Given the description of an element on the screen output the (x, y) to click on. 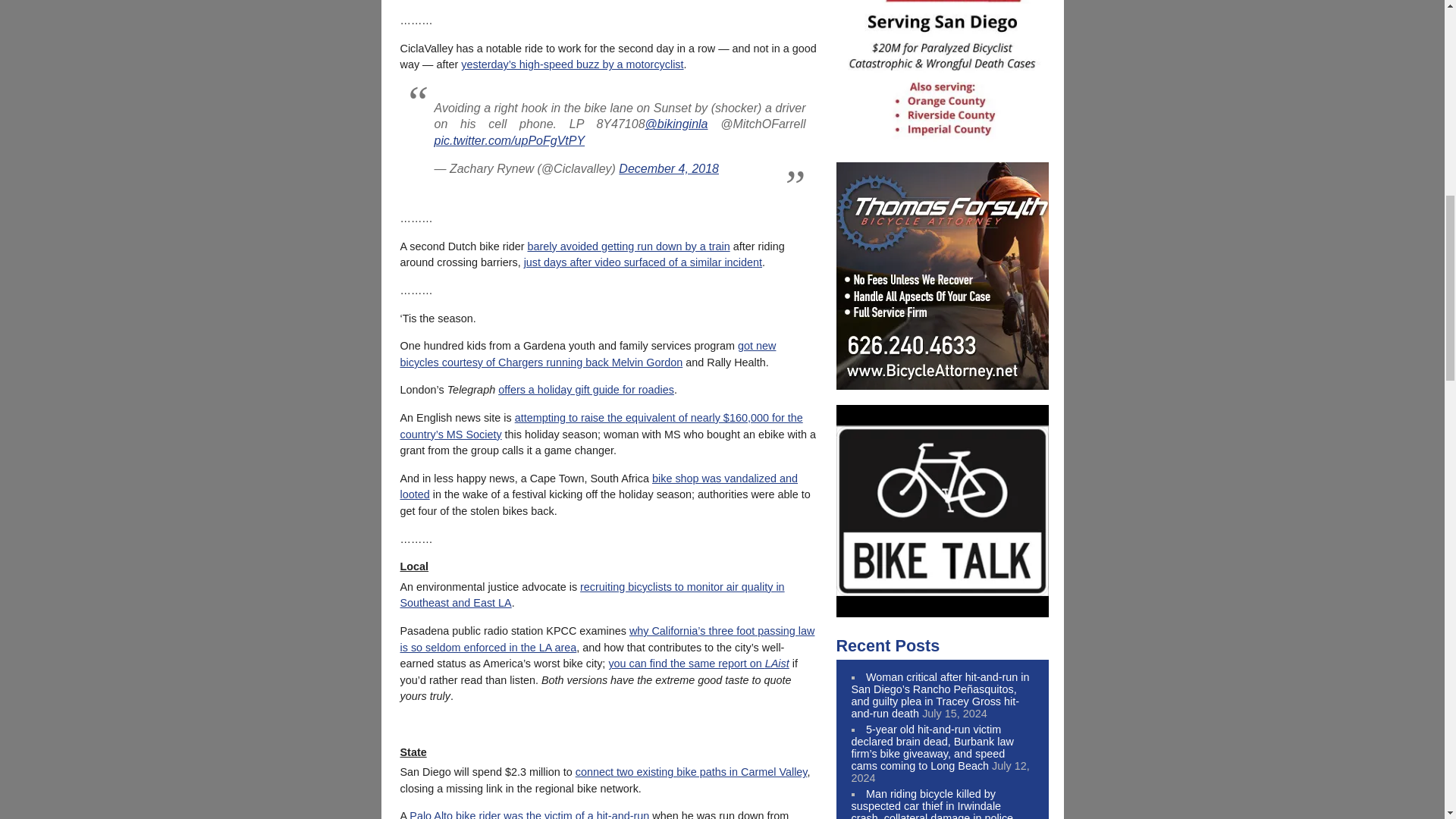
Palo Alto bike rider was the victim of a hit-and-run (529, 814)
you can find the same report on LAist (698, 663)
connect two existing bike paths in Carmel Valley (691, 771)
just days after video surfaced of a similar incident (642, 262)
barely avoided getting run down by a train (628, 246)
bike shop was vandalized and looted (598, 486)
December 4, 2018 (668, 168)
offers a holiday gift guide for roadies (585, 389)
